Given the description of an element on the screen output the (x, y) to click on. 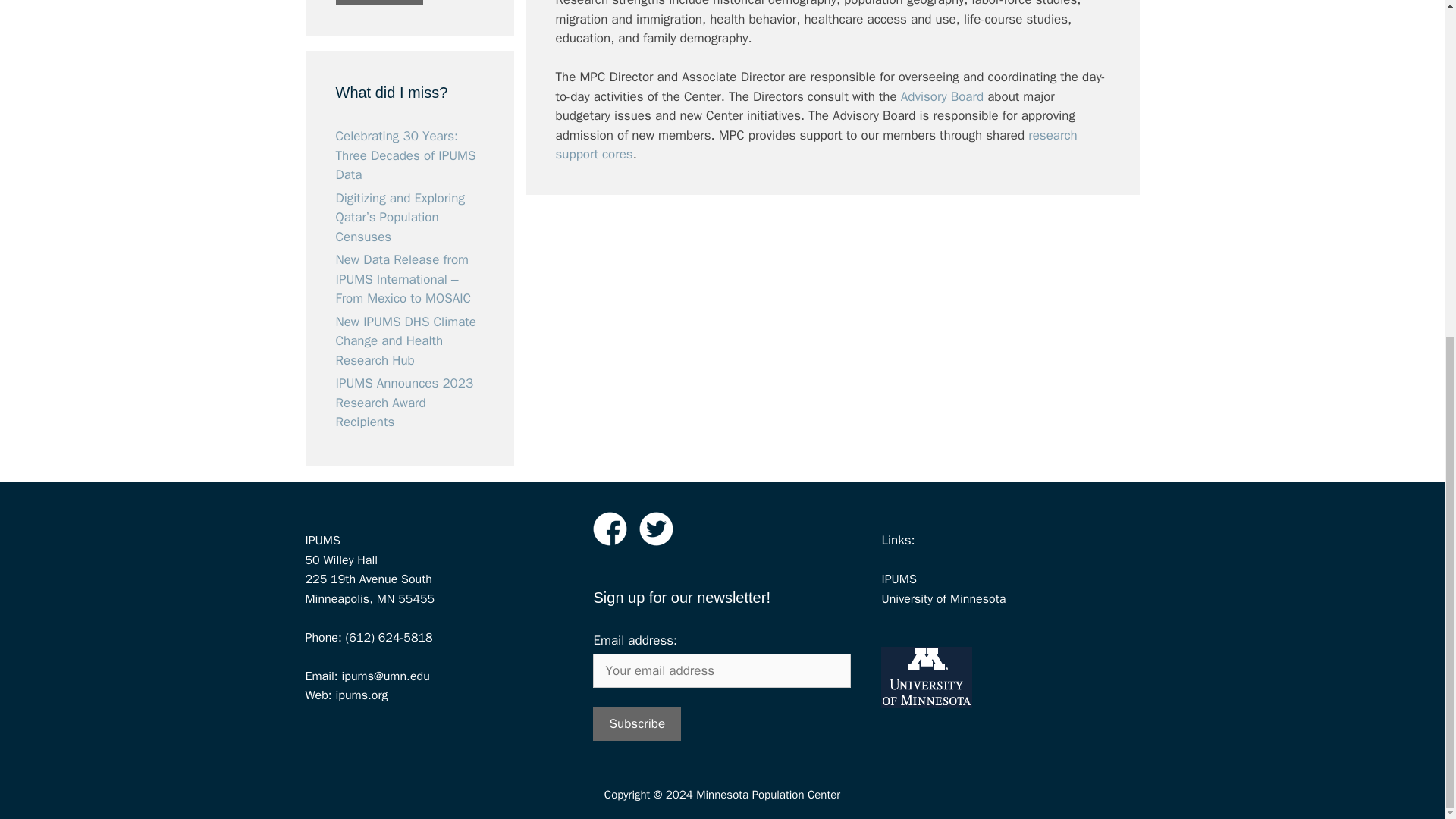
Subscribe (378, 2)
ipums.org (359, 694)
New IPUMS DHS Climate Change and Health Research Hub (405, 339)
University of Minnesota (943, 598)
Subscribe (378, 2)
Subscribe (636, 723)
IPUMS Announces 2023 Research Award Recipients (403, 402)
Advisory Board (942, 96)
Subscribe (636, 723)
research support cores (815, 144)
IPUMS (897, 579)
Celebrating 30 Years: Three Decades of IPUMS Data (405, 154)
